Given the description of an element on the screen output the (x, y) to click on. 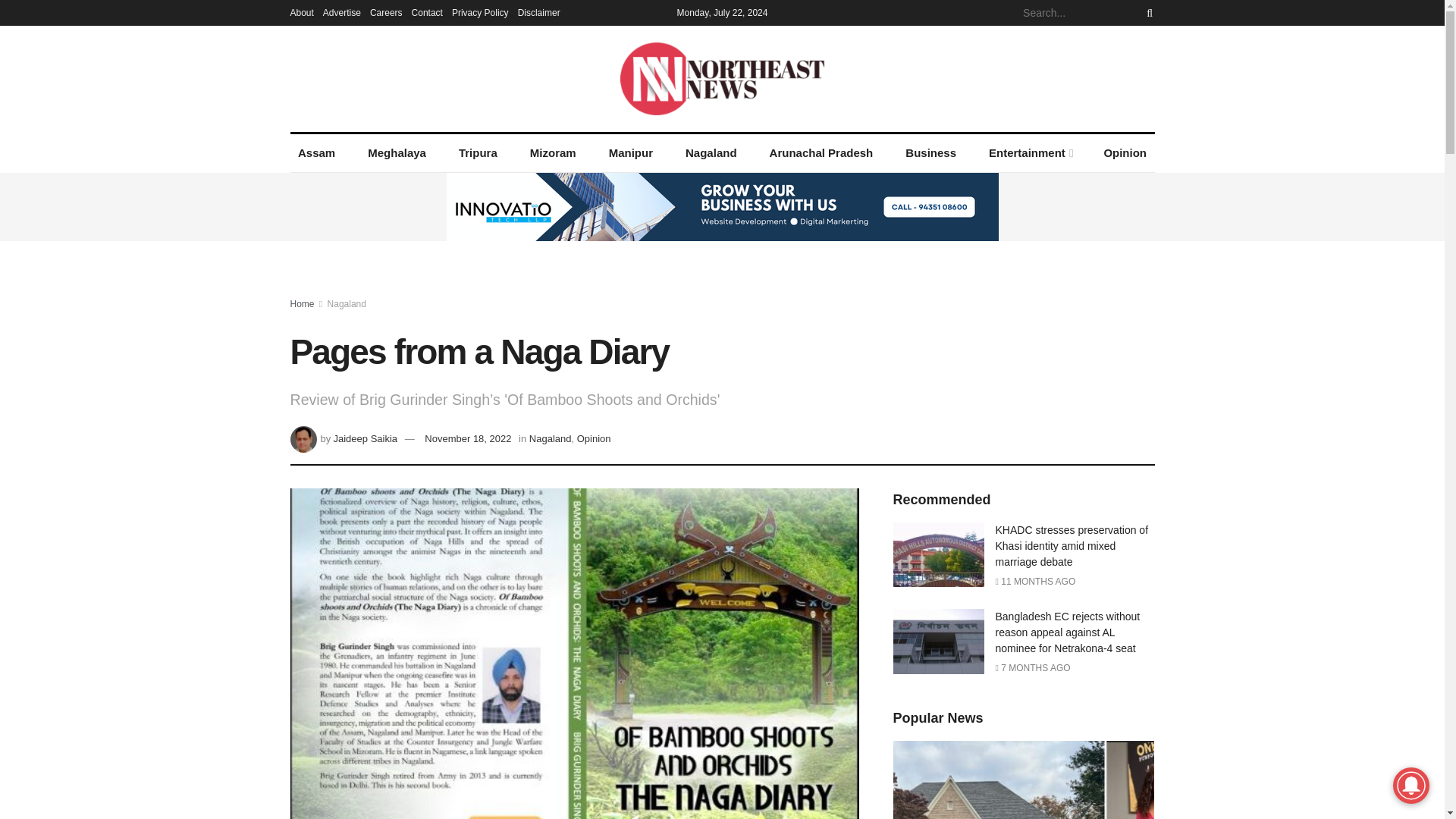
Arunachal Pradesh (820, 152)
Careers (386, 12)
Mizoram (552, 152)
Tripura (477, 152)
Opinion (1125, 152)
About (301, 12)
Entertainment (1029, 152)
Manipur (630, 152)
Disclaimer (539, 12)
Meghalaya (396, 152)
Assam (315, 152)
Privacy Policy (479, 12)
Nagaland (711, 152)
Advertise (342, 12)
Contact (427, 12)
